Given the description of an element on the screen output the (x, y) to click on. 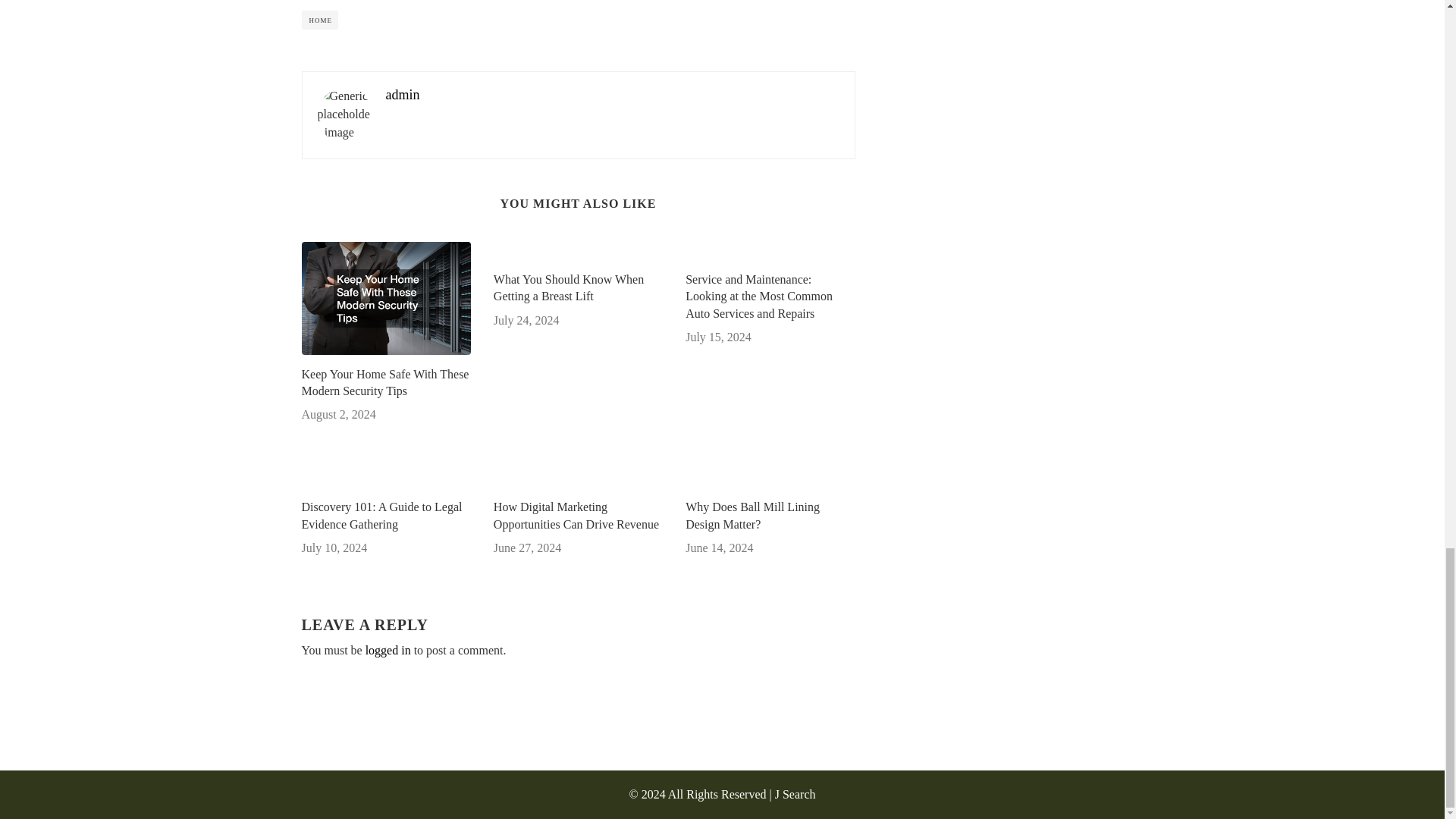
What You Should Know When Getting a Breast Lift (577, 288)
How Digital Marketing Opportunities Can Drive Revenue (577, 515)
HOME (320, 20)
admin (402, 94)
logged in (387, 649)
Keep Your Home Safe With These Modern Security Tips (385, 383)
Why Does Ball Mill Lining Design Matter? (769, 515)
Discovery 101: A Guide to Legal Evidence Gathering (385, 515)
